Given the description of an element on the screen output the (x, y) to click on. 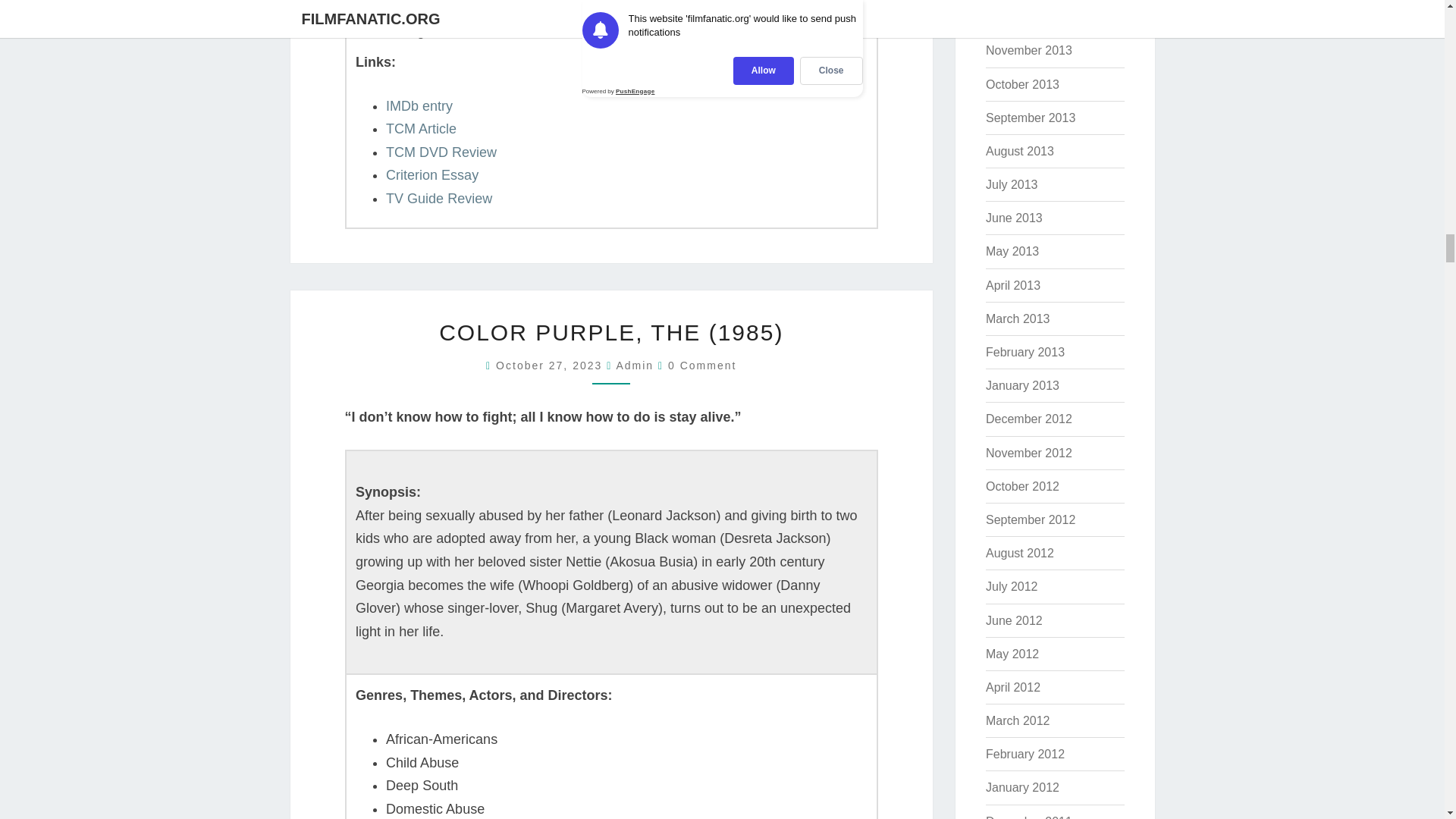
View all posts by admin (634, 365)
8:55 pm (551, 365)
